Given the description of an element on the screen output the (x, y) to click on. 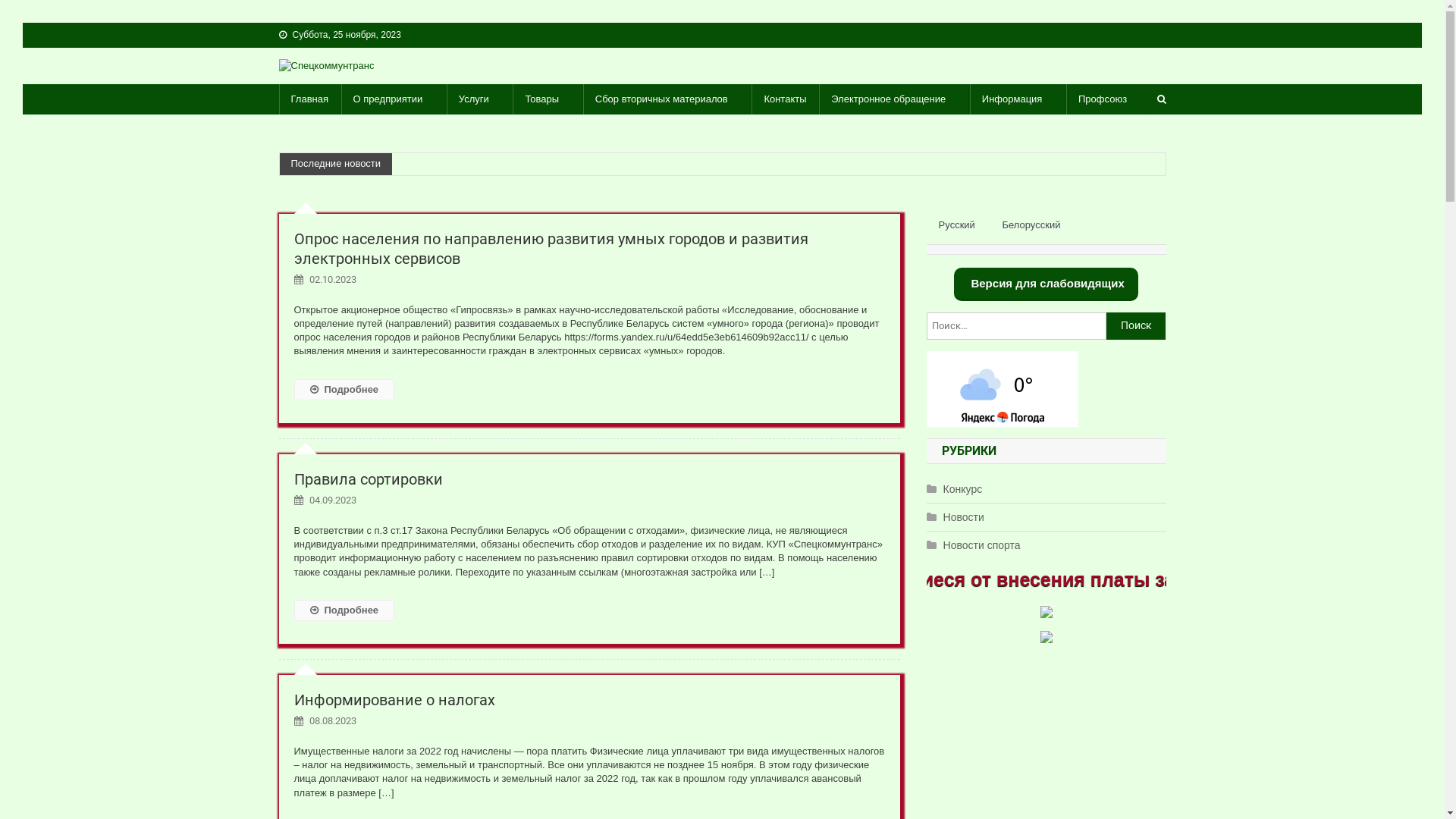
08.08.2023 Element type: text (332, 720)
02.10.2023 Element type: text (332, 279)
04.09.2023 Element type: text (332, 499)
